Given the description of an element on the screen output the (x, y) to click on. 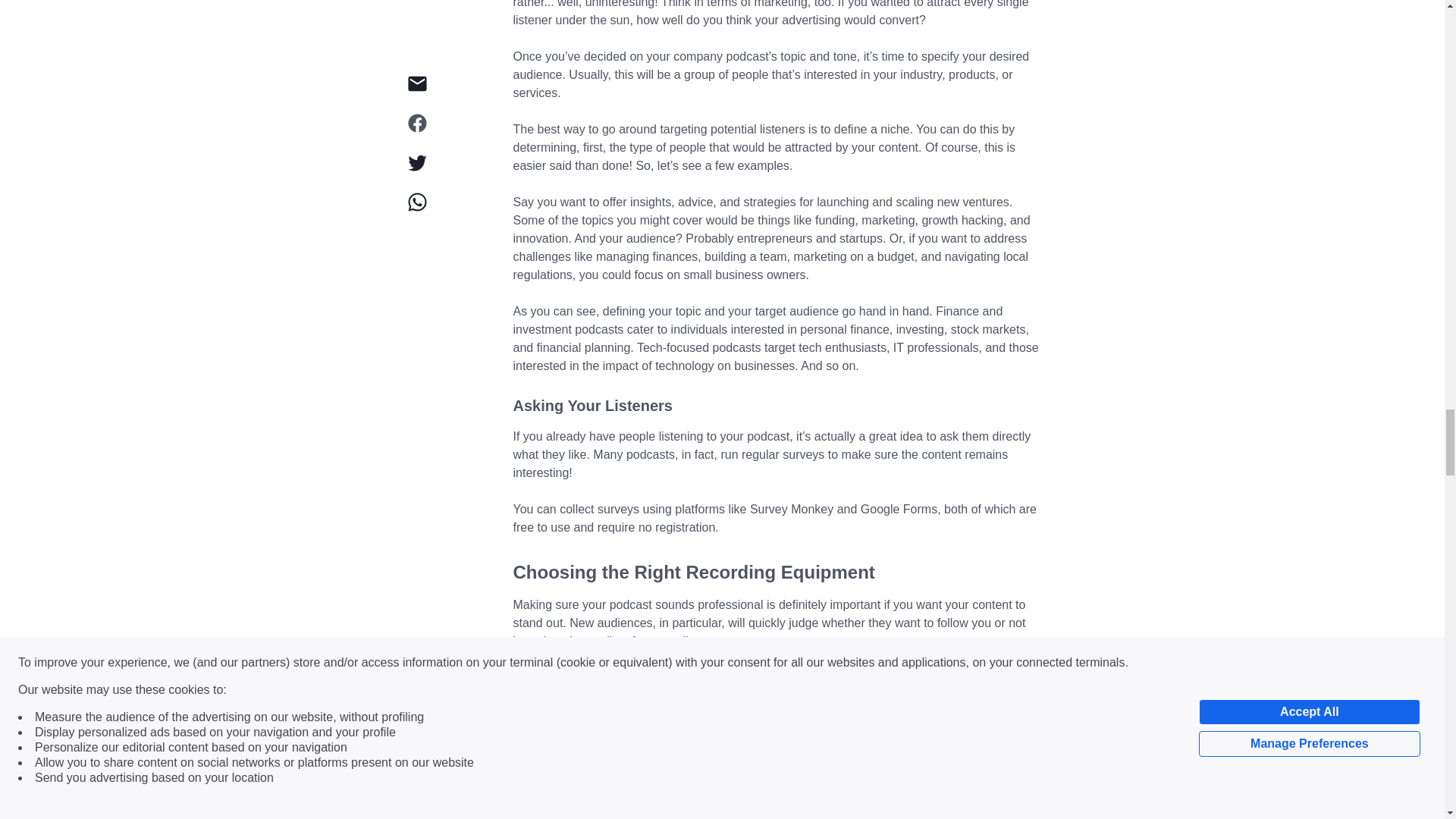
record your own (981, 676)
microphone (812, 816)
